Given the description of an element on the screen output the (x, y) to click on. 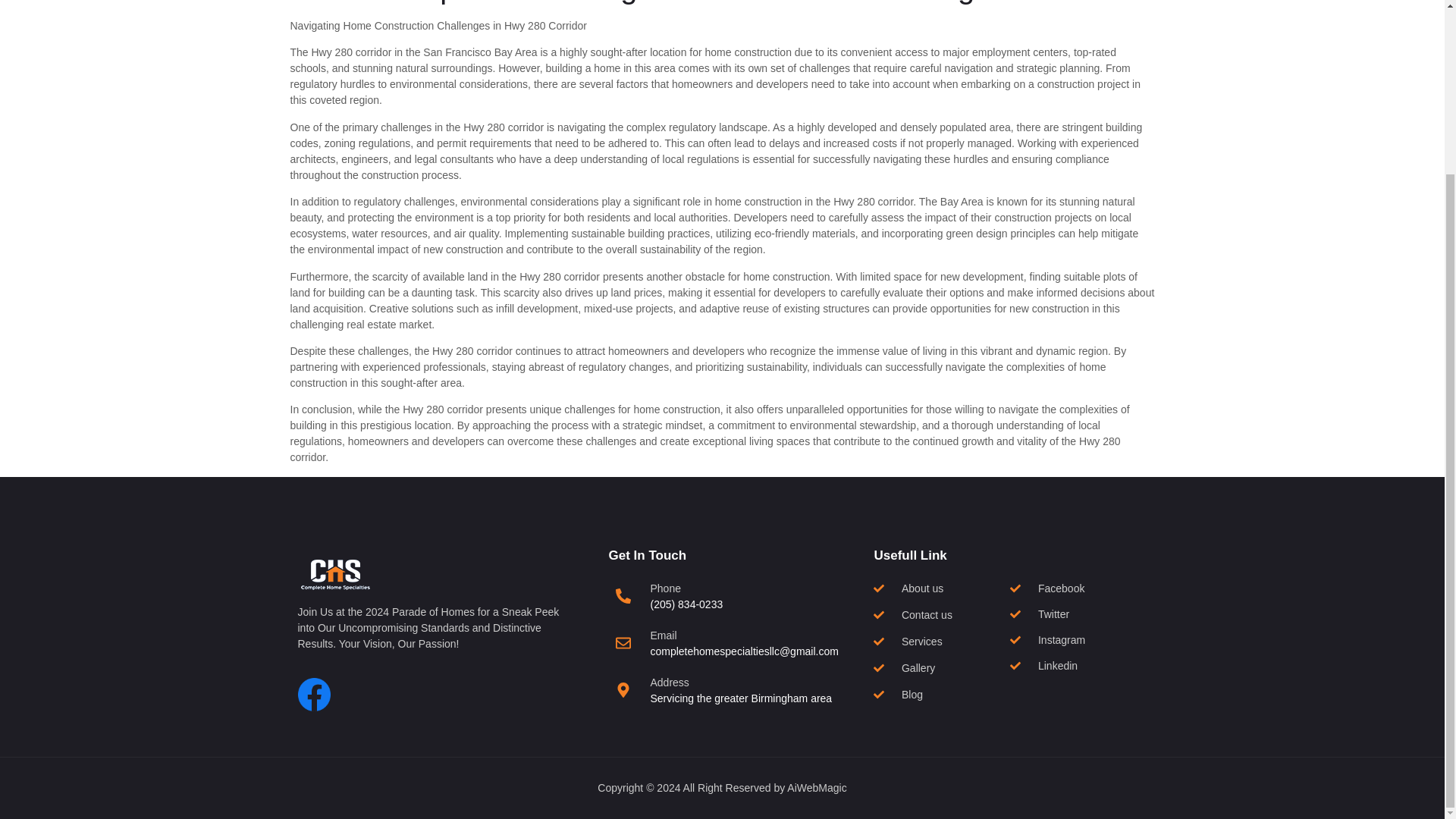
About us (941, 588)
Contact us (941, 615)
Services (941, 641)
Phone (664, 588)
Email (663, 635)
Twitter (1078, 614)
Linkedin (1078, 666)
Facebook (1078, 588)
Blog (941, 694)
Instagram (1078, 640)
Gallery (941, 668)
